Given the description of an element on the screen output the (x, y) to click on. 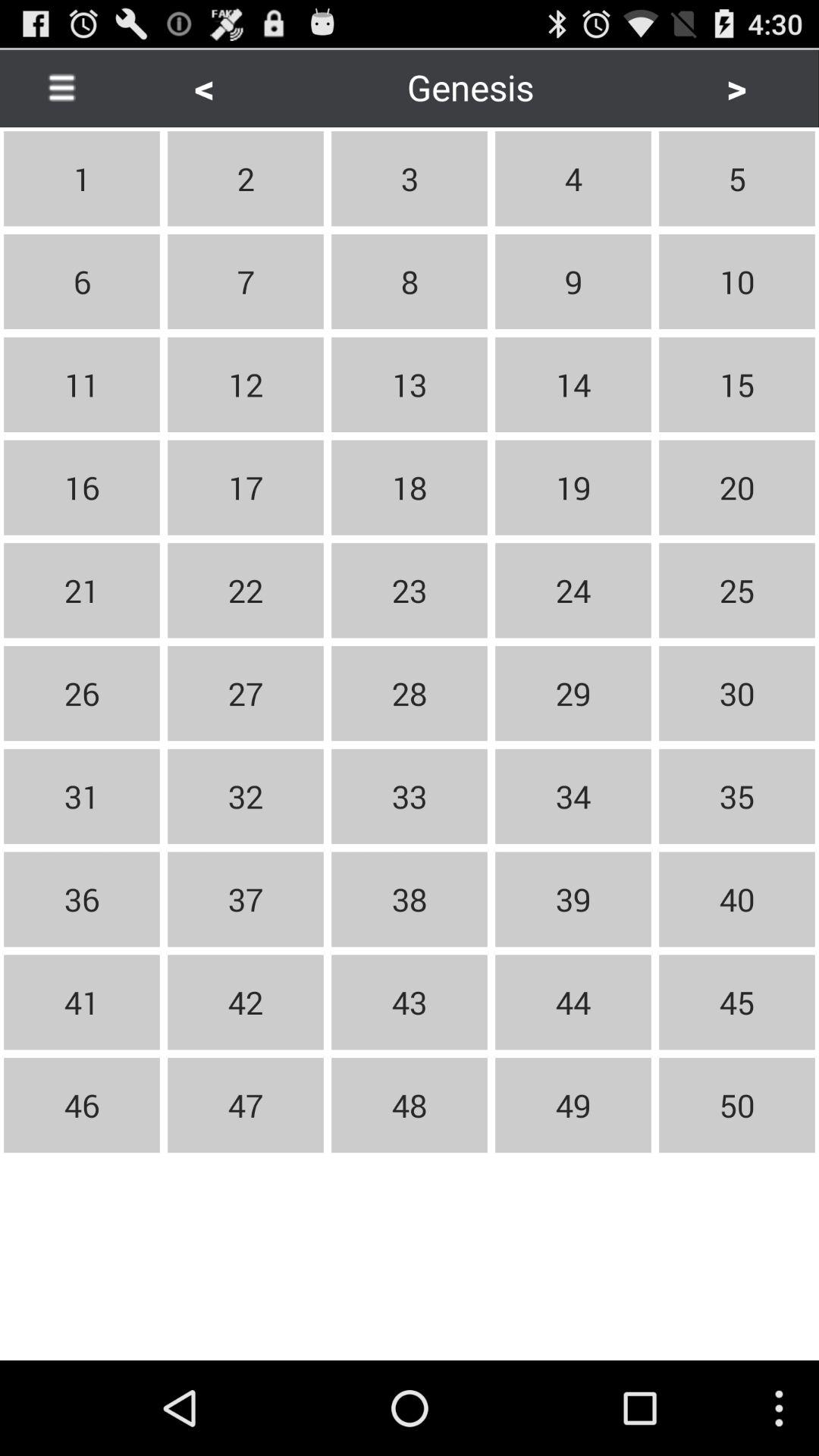
turn on item to the right of genesis (736, 87)
